Given the description of an element on the screen output the (x, y) to click on. 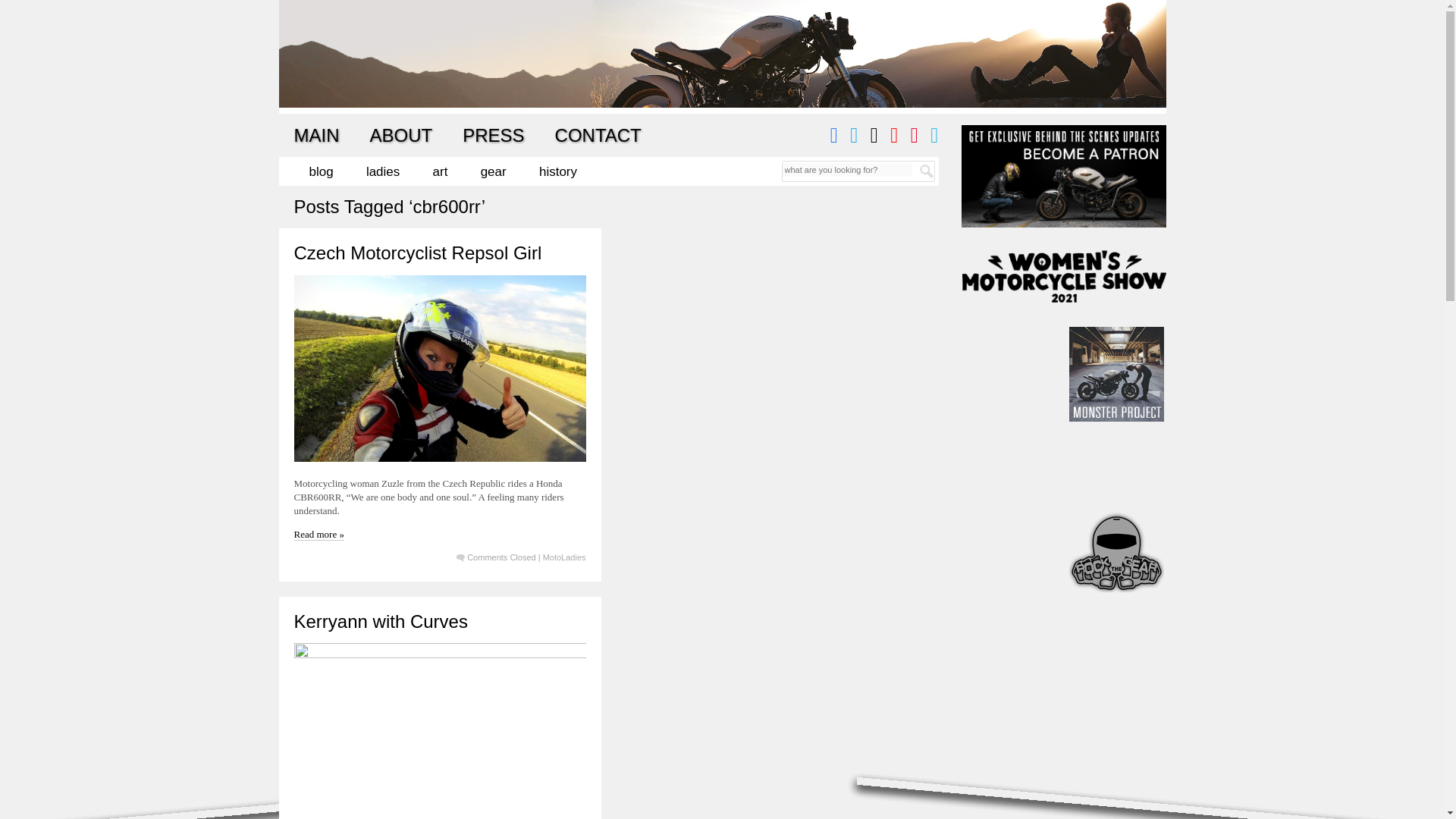
art (440, 171)
PRESS (493, 135)
MAIN (316, 135)
Czech Motorcyclist Repsol Girl (417, 252)
blog (320, 171)
gear (493, 171)
Czech Motorcyclist Repsol Girl (417, 252)
Kerryann with Curves (380, 620)
ABOUT (400, 135)
MotoLadies (564, 556)
